Given the description of an element on the screen output the (x, y) to click on. 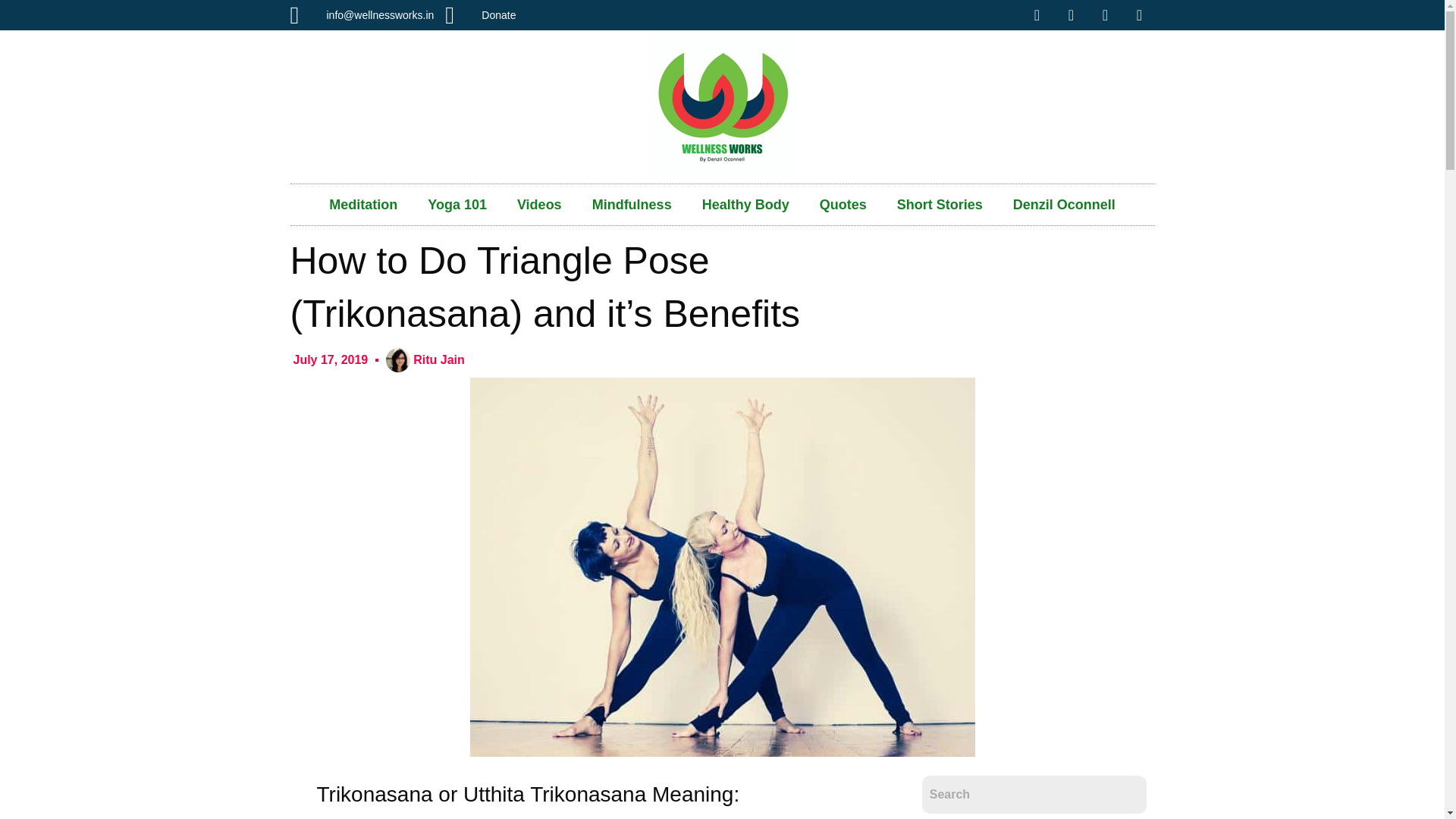
Mindfulness (631, 204)
Videos (539, 204)
Healthy Body (746, 204)
Donate (480, 15)
Short Stories (939, 204)
Yoga 101 (457, 204)
Search (1034, 794)
Denzil Oconnell (1064, 204)
Quotes (843, 204)
Meditation (363, 204)
